Given the description of an element on the screen output the (x, y) to click on. 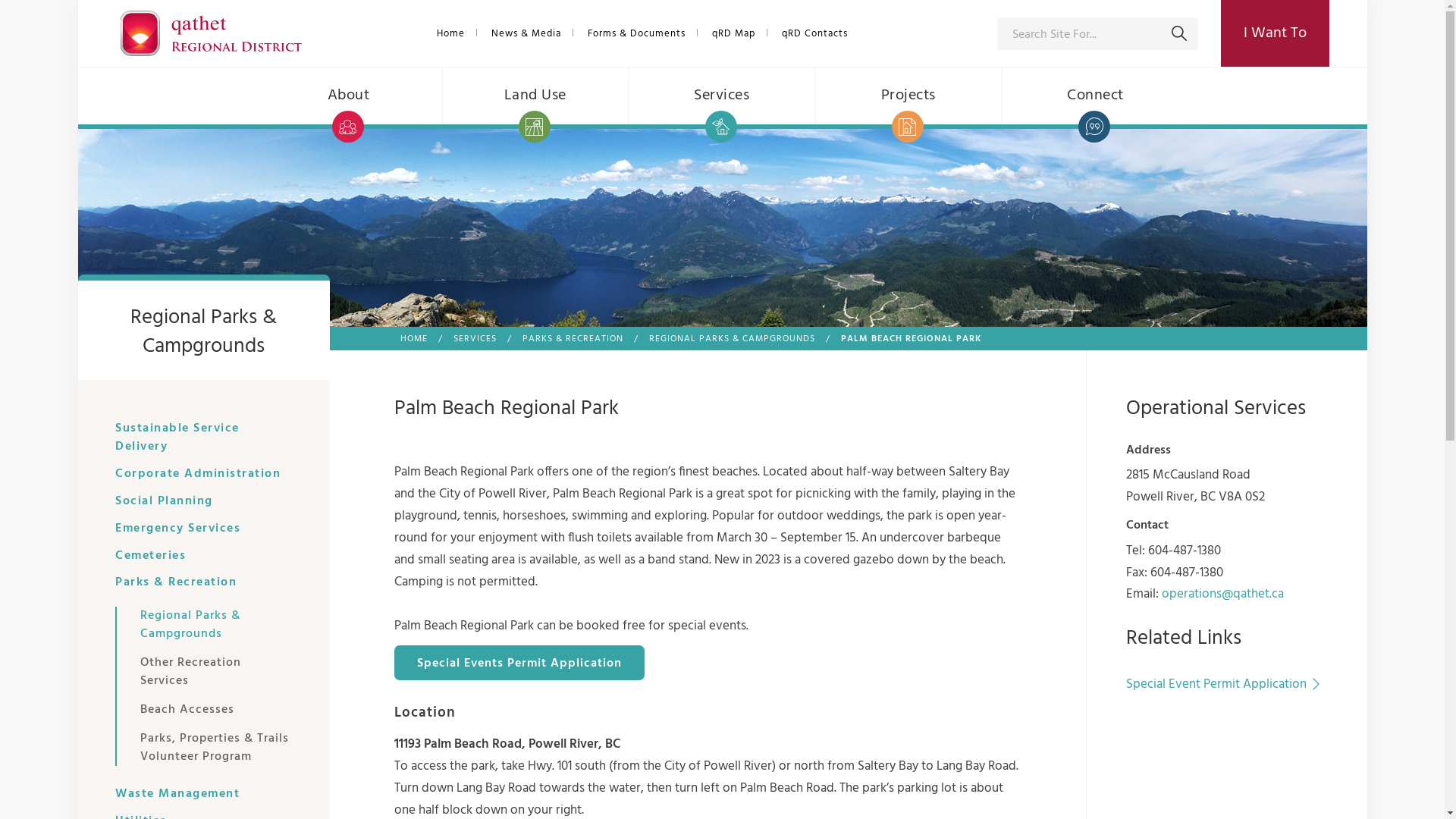
Waste Management Element type: text (177, 793)
Special Event Permit Application Element type: text (1223, 683)
Emergency Services Element type: text (177, 528)
Services Element type: text (722, 96)
Forms & Documents Element type: text (636, 33)
Corporate Administration Element type: text (197, 473)
Regional Parks & Campgrounds Element type: text (216, 627)
Beach Accesses Element type: text (216, 709)
News & Media Element type: text (526, 33)
Other Recreation Services Element type: text (216, 671)
Home Element type: text (450, 33)
Social Planning Element type: text (164, 500)
About Element type: text (349, 96)
operations@qathet.ca Element type: text (1222, 593)
Sustainable Service Delivery Element type: text (203, 437)
HOME Element type: text (413, 338)
Land Use Element type: text (535, 96)
PARKS & RECREATION Element type: text (571, 338)
Parks & Recreation Element type: text (175, 582)
qRD Map Element type: text (733, 33)
Connect Element type: text (1095, 96)
Cemeteries Element type: text (150, 555)
Parks, Properties & Trails Volunteer Program Element type: text (216, 744)
Projects Element type: text (908, 96)
I Want To Element type: text (1274, 33)
Submit Element type: text (1179, 32)
Special Events Permit Application Element type: text (519, 662)
SERVICES Element type: text (474, 338)
REGIONAL PARKS & CAMPGROUNDS Element type: text (732, 338)
qRD Contacts Element type: text (814, 33)
